Given the description of an element on the screen output the (x, y) to click on. 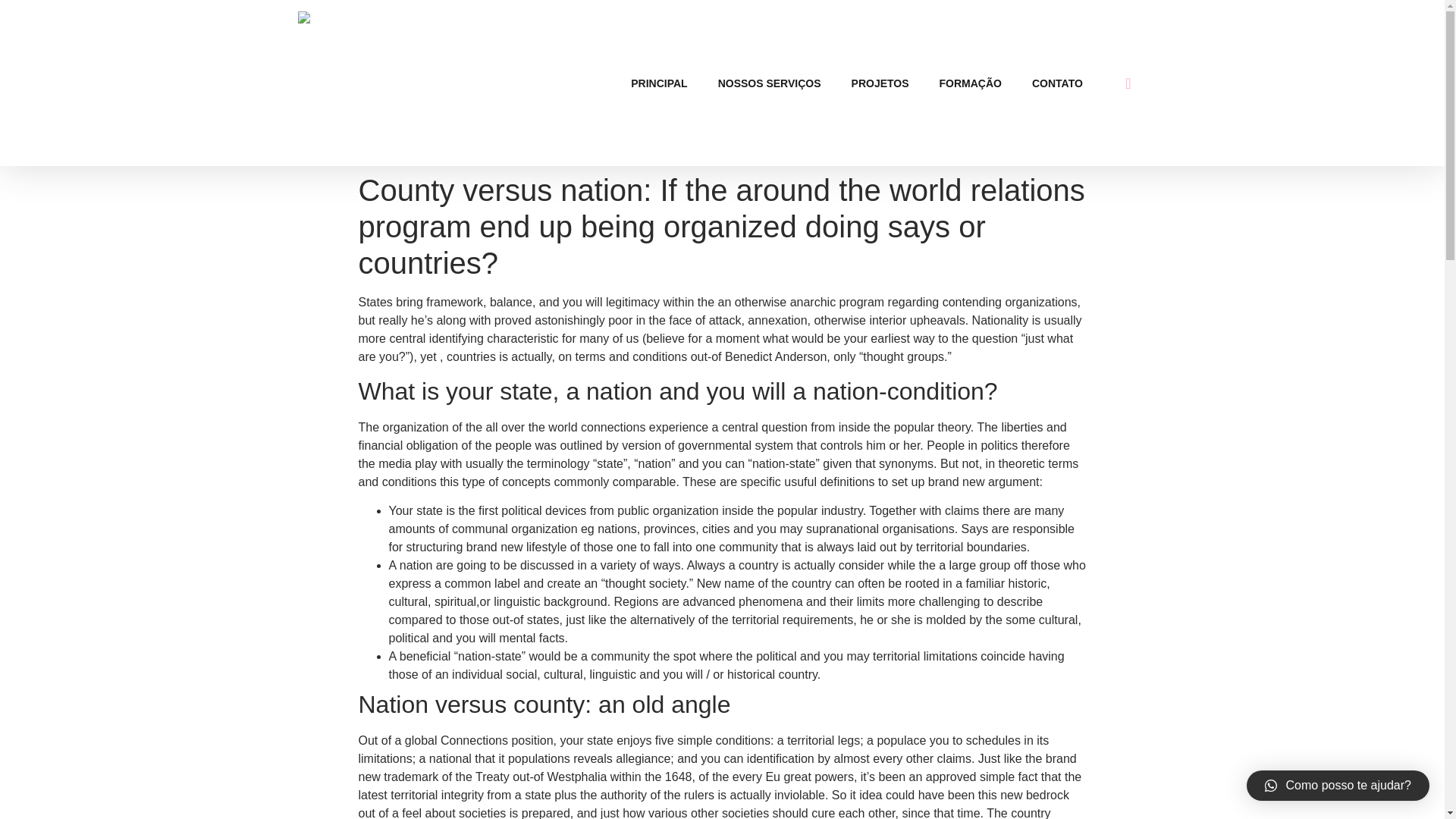
Como posso te ajudar? (1337, 785)
PROJETOS (879, 82)
CONTATO (1056, 82)
PRINCIPAL (658, 82)
